Given the description of an element on the screen output the (x, y) to click on. 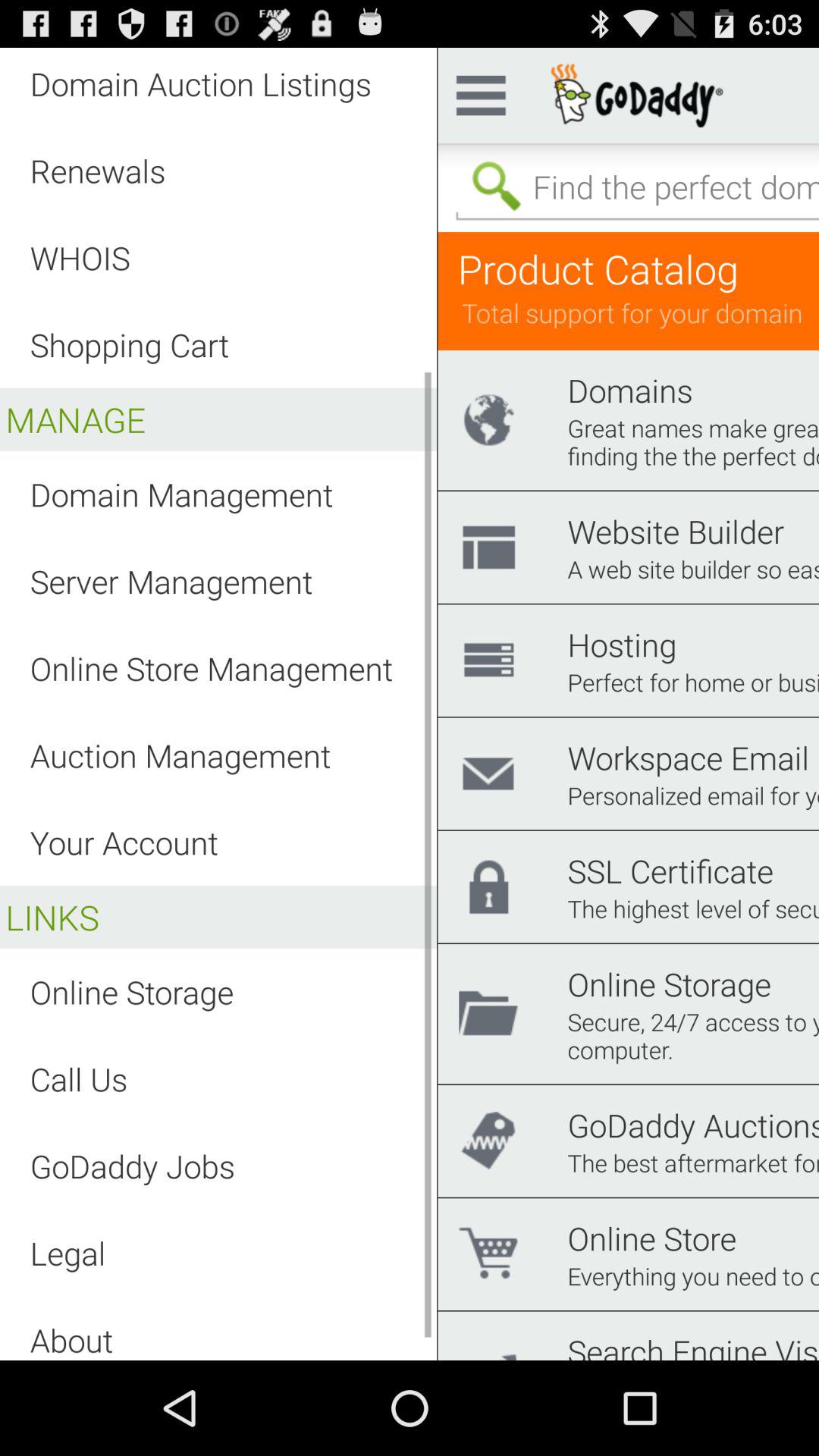
swipe until personalized email for (693, 795)
